Given the description of an element on the screen output the (x, y) to click on. 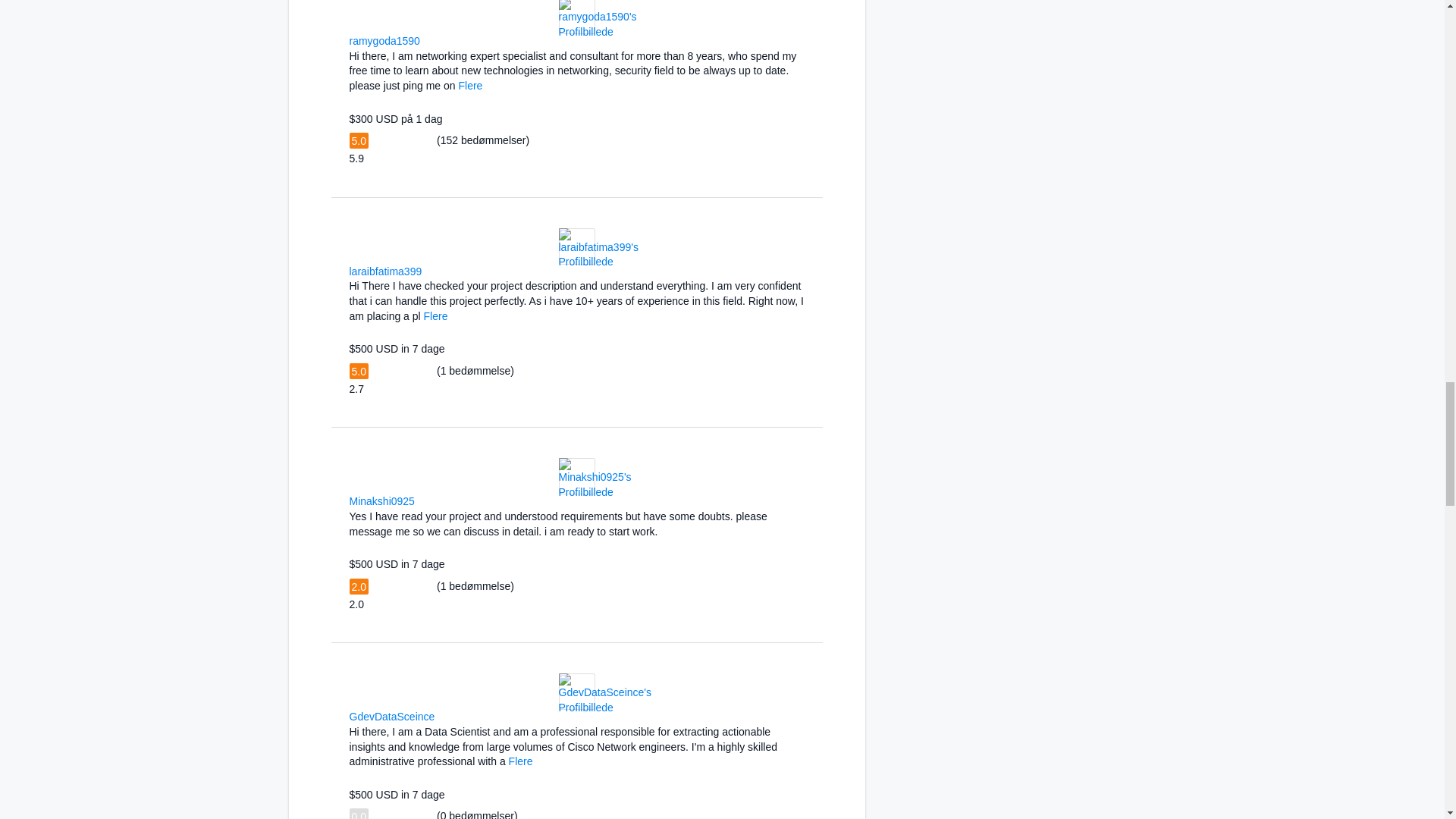
India (423, 500)
Bangladesh (444, 715)
GdevDataSceince (391, 716)
Se Minakshi0925's Profil (593, 491)
laraibfatima399 (385, 271)
Egypt (429, 40)
Se ramygoda1590's Profil (596, 31)
Se GdevDataSceince's Profil (603, 707)
Pakistan (431, 270)
Flere (469, 85)
Se laraibfatima399's Profil (597, 261)
Minakshi0925 (381, 500)
Flere (435, 316)
ramygoda1590 (384, 40)
Flere (520, 761)
